Given the description of an element on the screen output the (x, y) to click on. 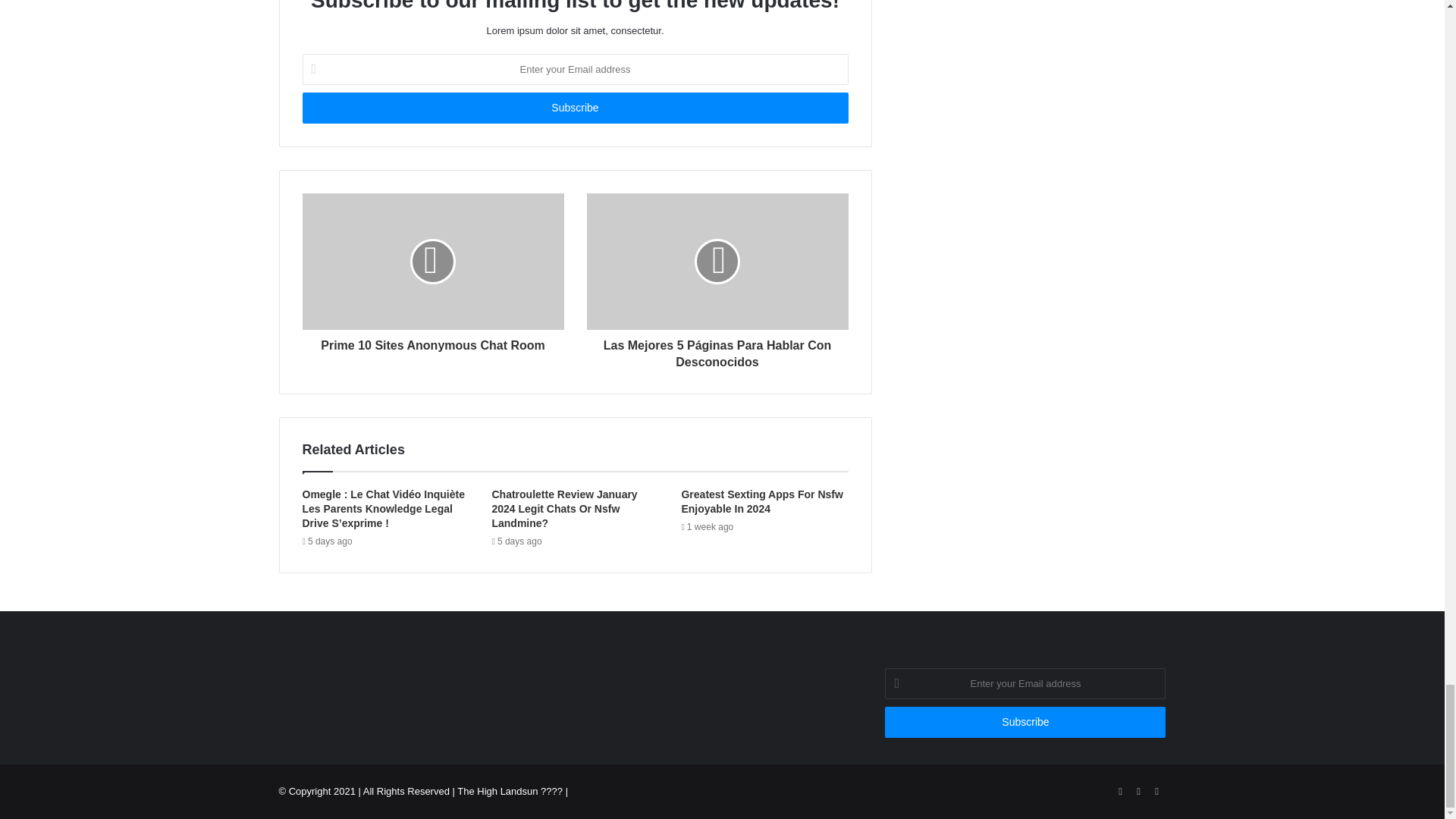
Subscribe (574, 107)
Subscribe (1025, 721)
